Given the description of an element on the screen output the (x, y) to click on. 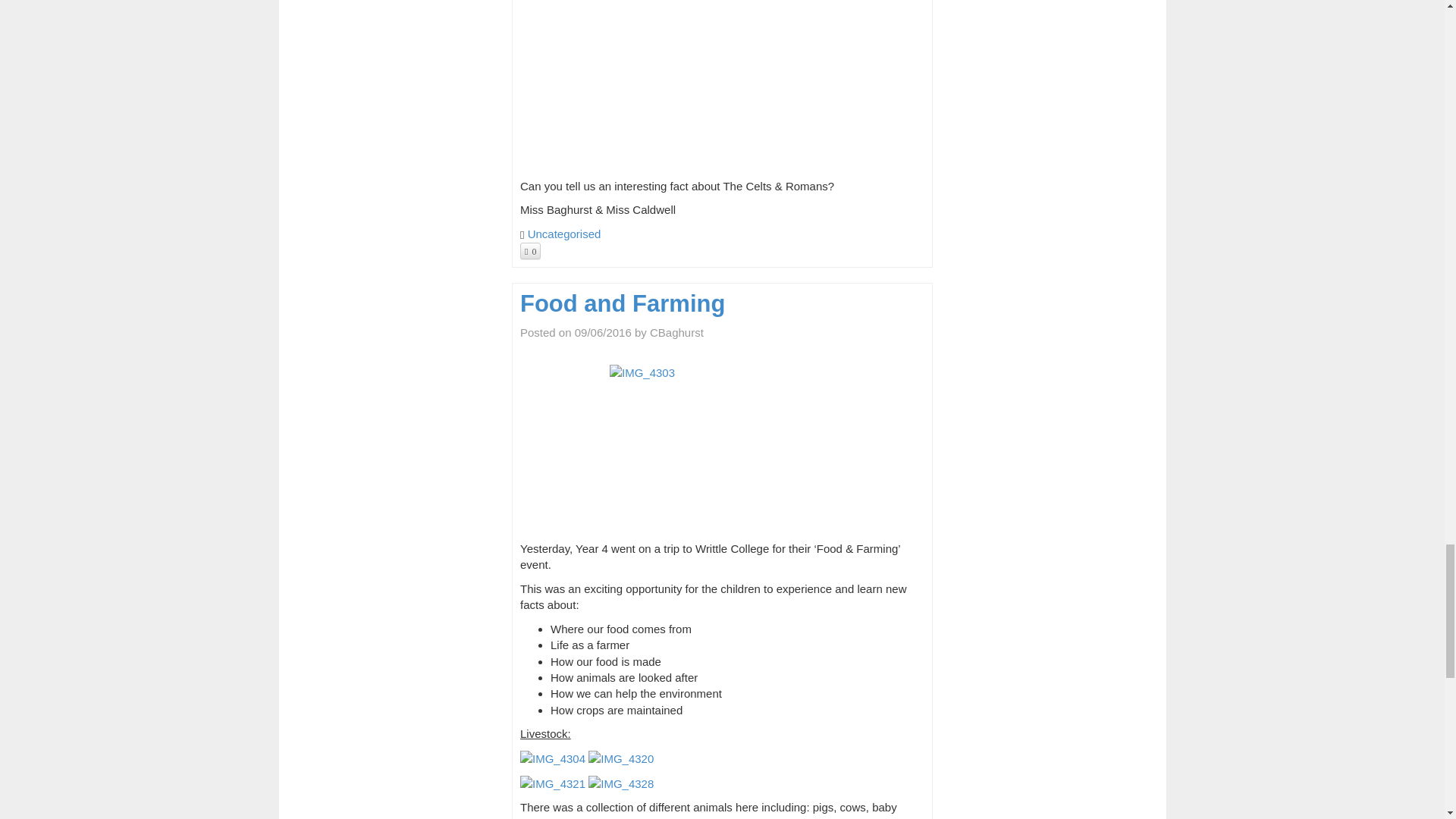
Uncategorised (564, 233)
Food and Farming (622, 303)
08:02 (603, 332)
View all posts by CBaghurst (676, 332)
CBaghurst (676, 332)
0 (529, 250)
